Given the description of an element on the screen output the (x, y) to click on. 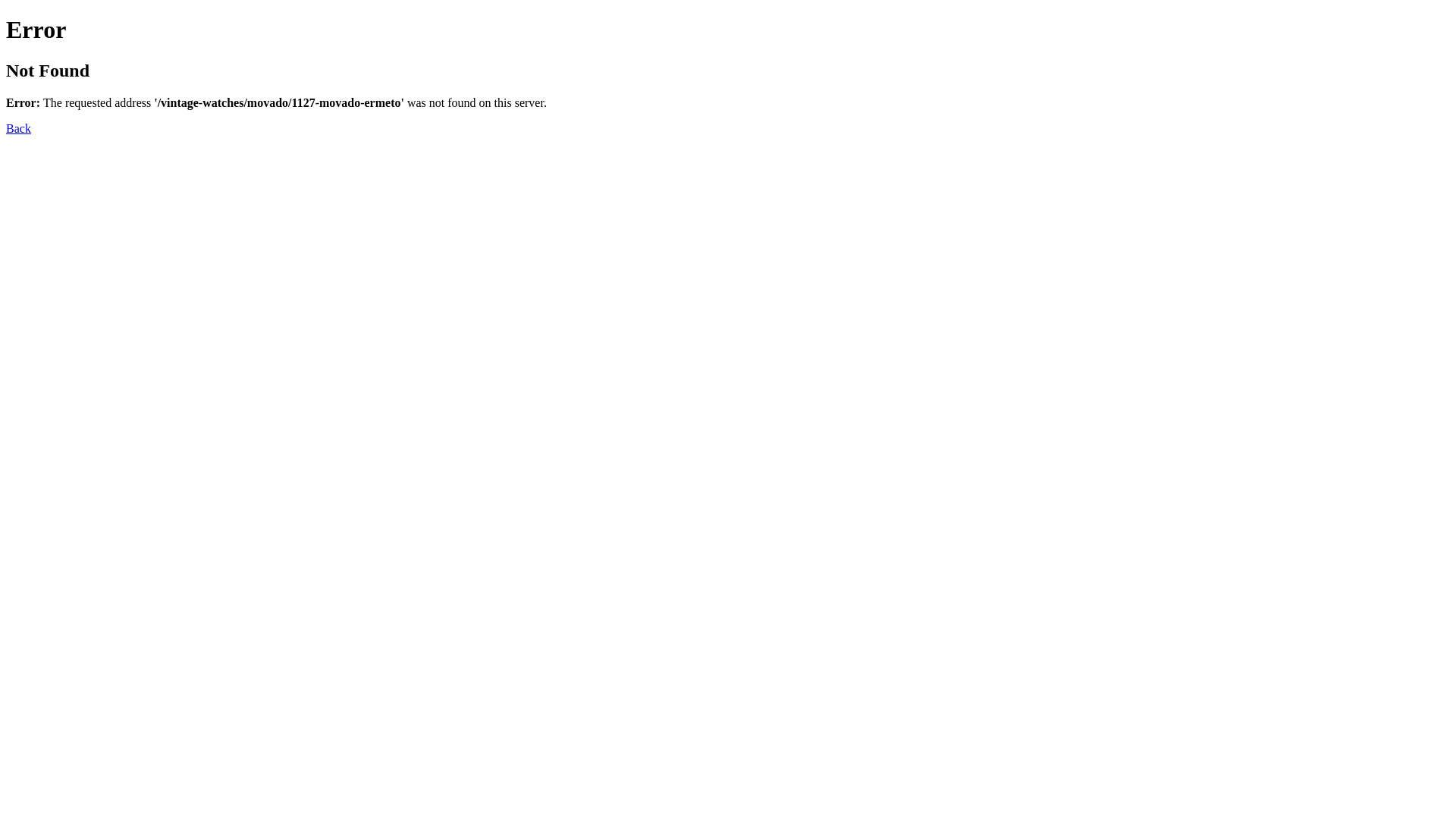
Back Element type: text (18, 128)
